Given the description of an element on the screen output the (x, y) to click on. 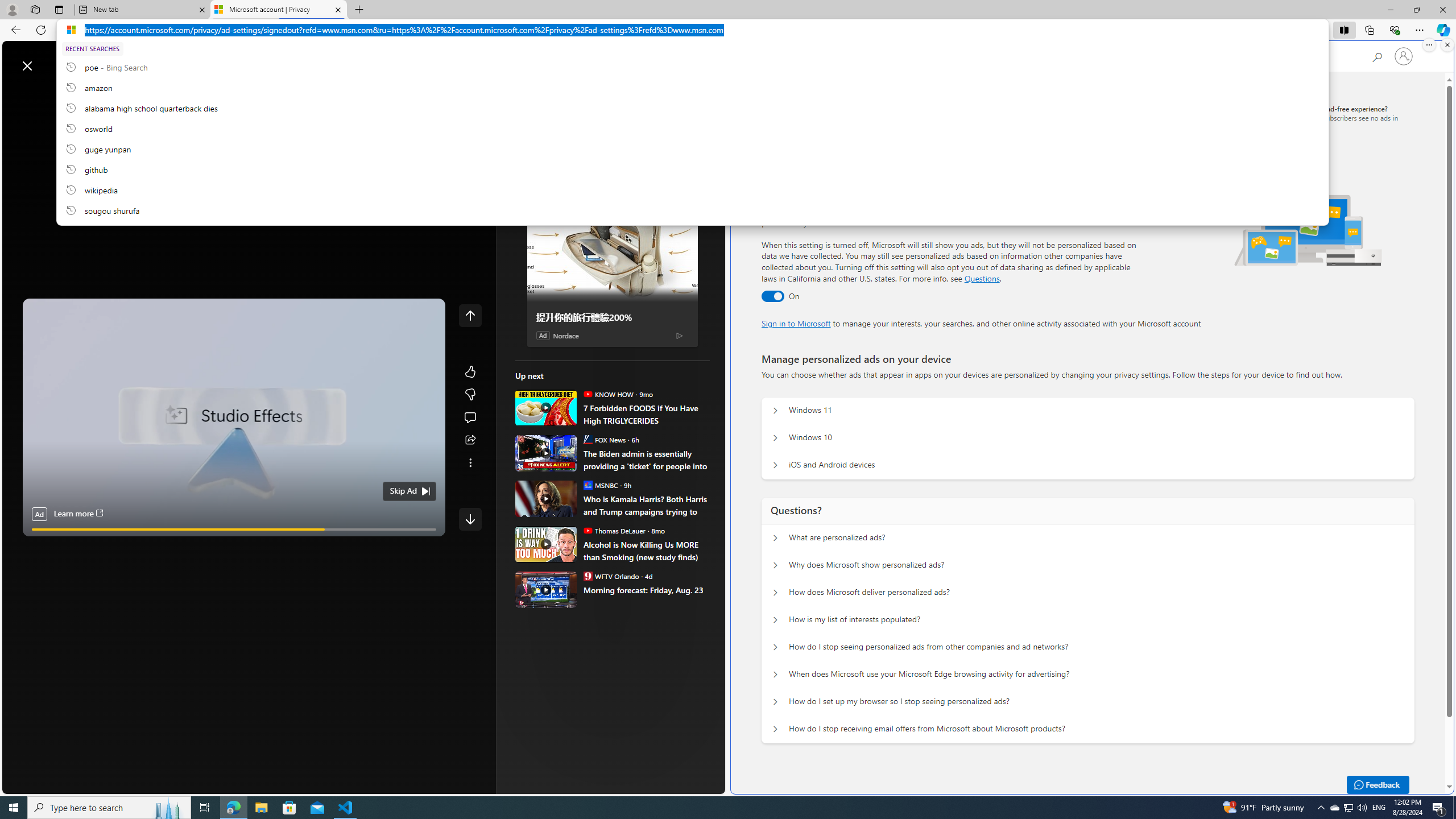
Ad settings (862, 112)
Collapse (469, 65)
Illustration of multiple devices (1308, 229)
Personalize (679, 92)
Open navigation menu (16, 92)
MSNBC MSNBC (600, 484)
WFTV Orlando (587, 575)
Summer Sale! Up to -55% (616, 571)
Class: control (469, 518)
